Given the description of an element on the screen output the (x, y) to click on. 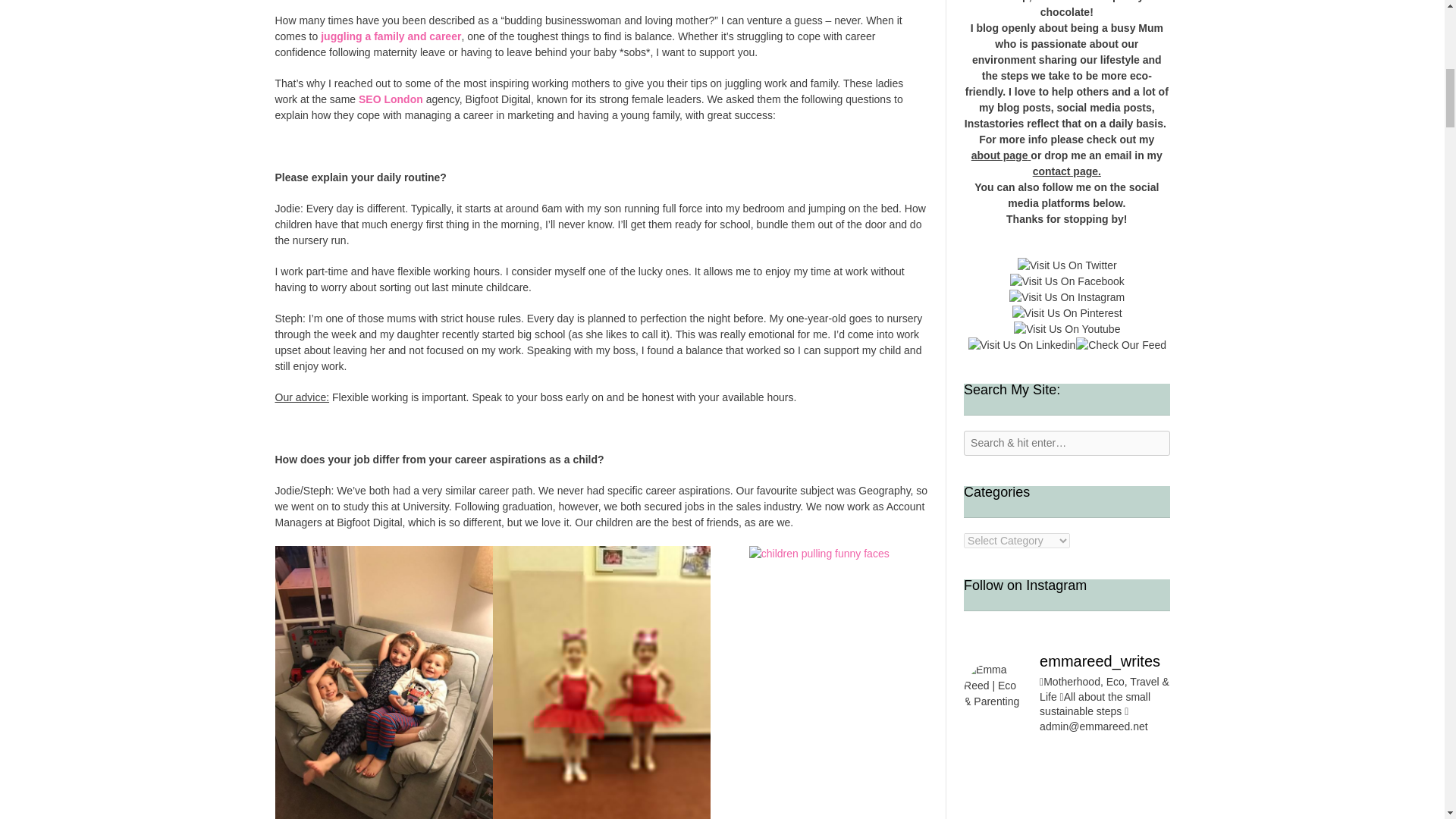
juggling a family and career (390, 36)
SEO London (390, 99)
How I Juggle Working From Home With Children (390, 36)
